Given the description of an element on the screen output the (x, y) to click on. 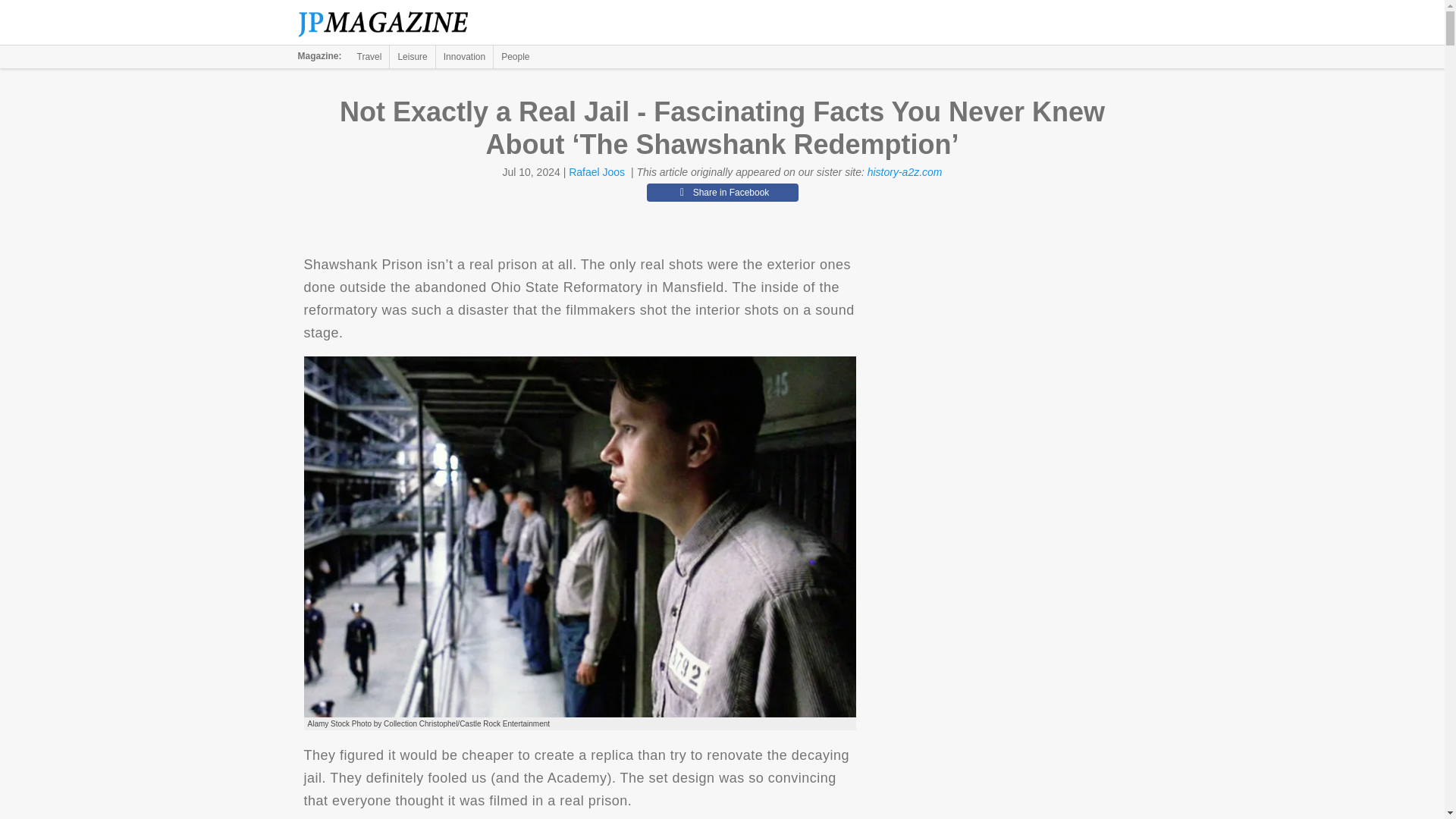
history-a2z.com (904, 172)
The Jerusalem Post Magazine (391, 22)
Travel (369, 56)
People (515, 56)
Leisure (411, 56)
Innovation (464, 56)
Rafael Joos (596, 172)
Share in Facebook (721, 192)
